Given the description of an element on the screen output the (x, y) to click on. 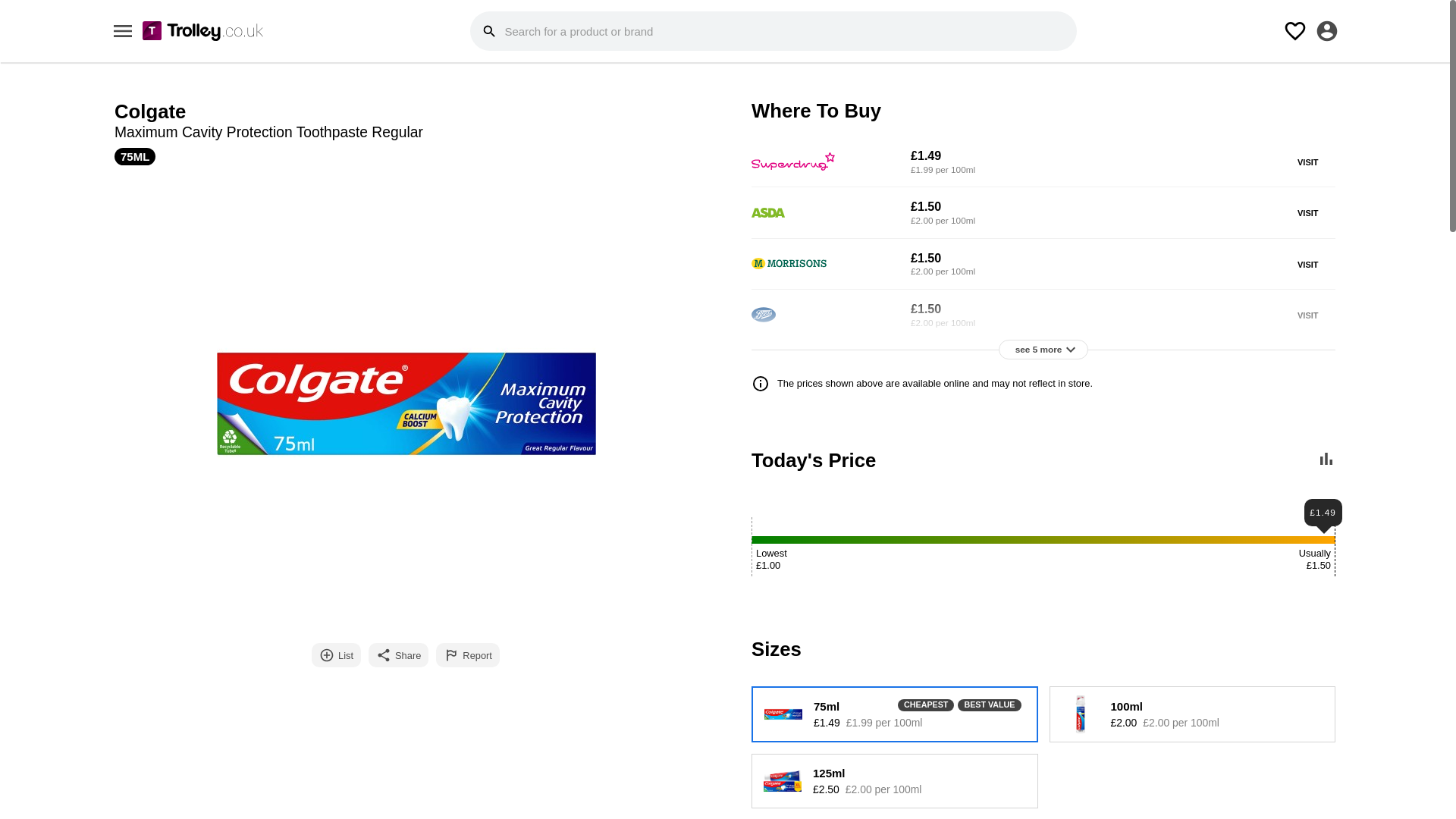
Share (398, 654)
VISIT (1308, 315)
Asda (767, 212)
VISIT (1308, 213)
VISIT (1308, 162)
see 5 more (1043, 349)
Superdrug (792, 161)
VISIT (1308, 265)
Boots (763, 314)
List (336, 654)
Morrisons (789, 263)
Report (467, 654)
